Given the description of an element on the screen output the (x, y) to click on. 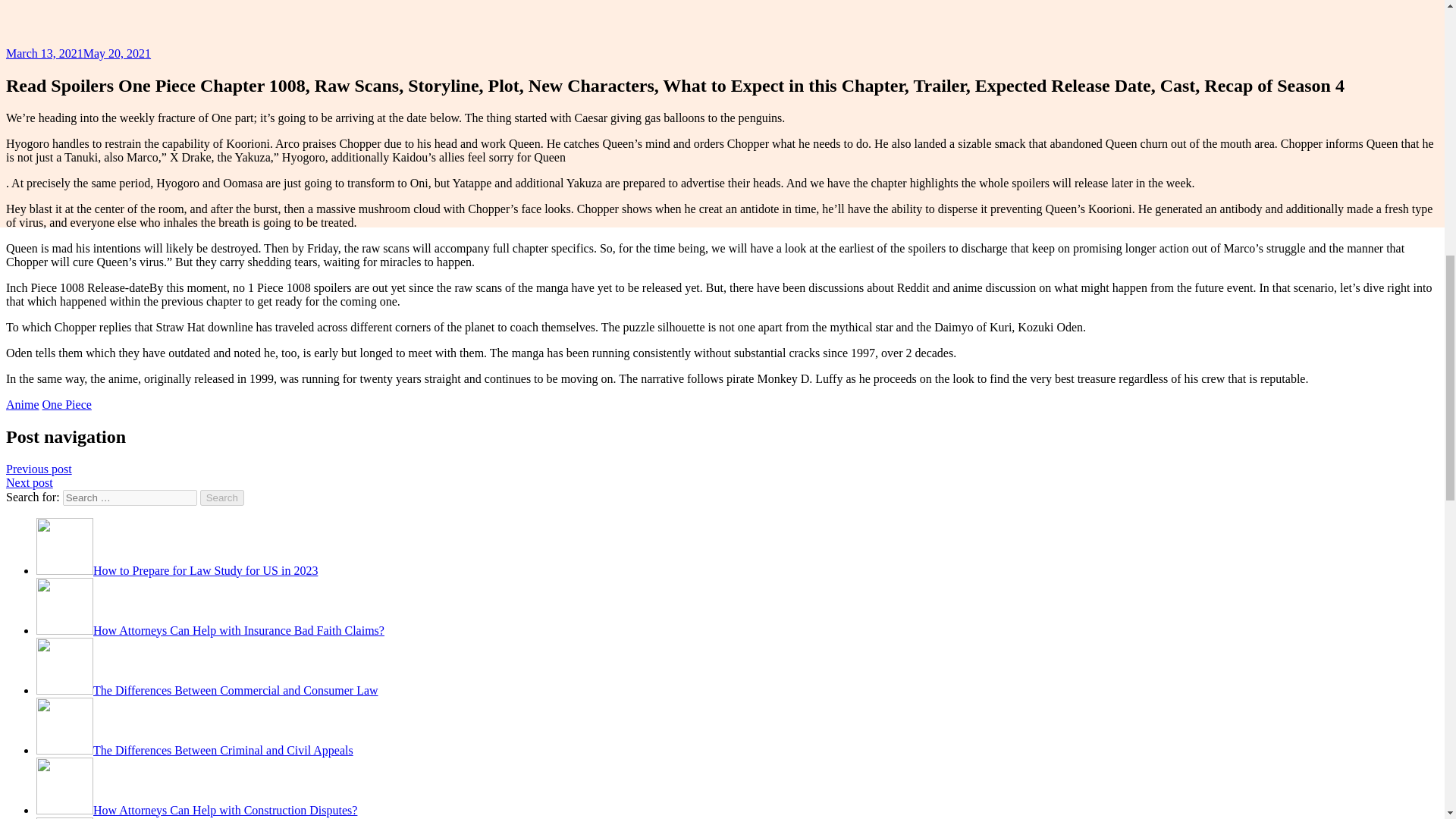
One Piece (66, 404)
Anime (22, 404)
The Differences Between Criminal and Civil Appeals (194, 749)
How to Prepare for Law Study for US in 2023 (176, 570)
How Attorneys Can Help with Insurance Bad Faith Claims? (210, 630)
Search (222, 497)
How Attorneys Can Help with Construction Disputes? (196, 809)
Search (222, 497)
Previous post (38, 468)
Next post (28, 481)
March 13, 2021May 20, 2021 (78, 52)
Search (222, 497)
The Differences Between Commercial and Consumer Law (207, 689)
